Given the description of an element on the screen output the (x, y) to click on. 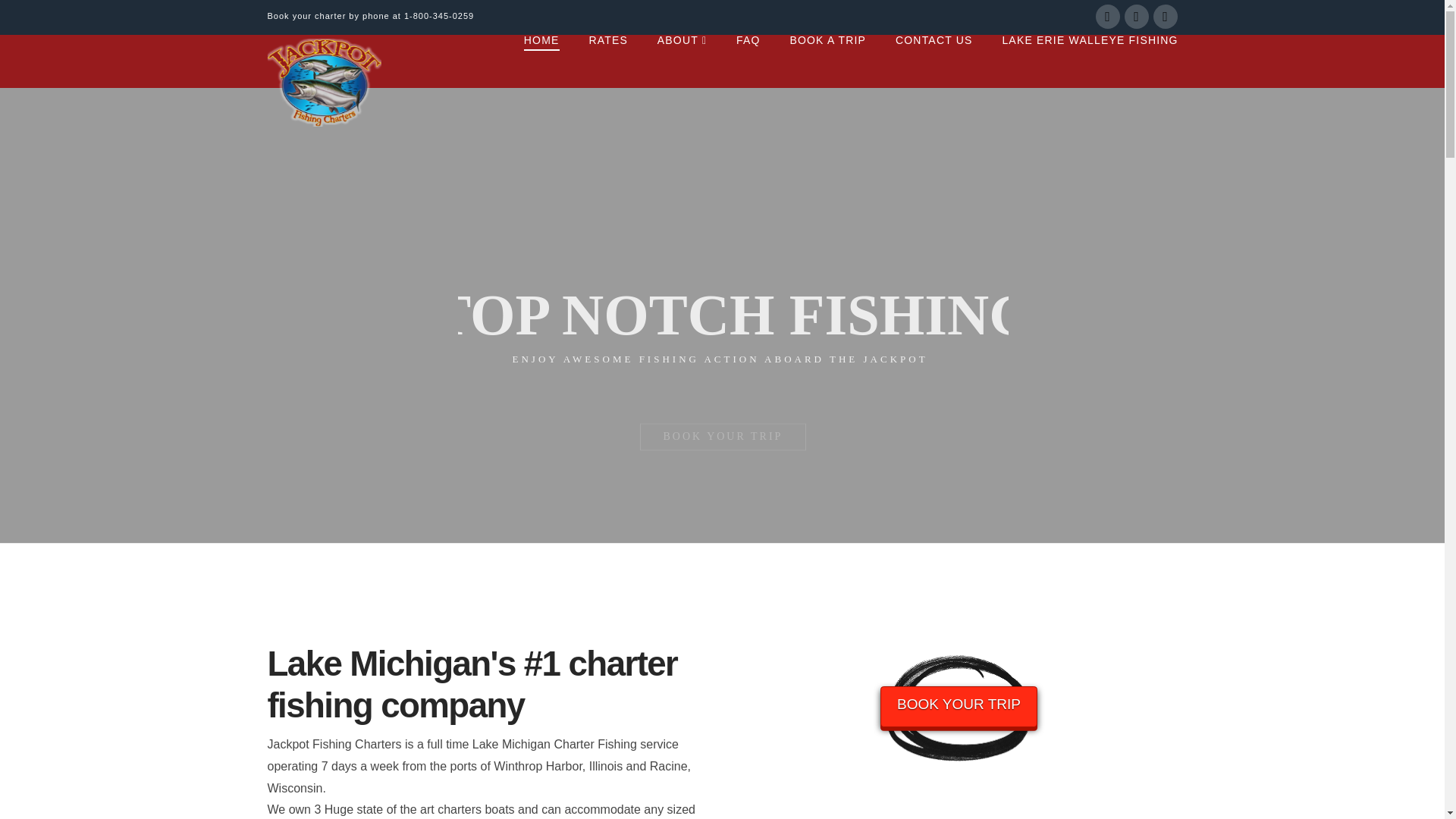
1-800-345-0259 (439, 15)
Instagram (1164, 16)
BOOK YOUR TRIP (958, 706)
LAKE ERIE WALLEYE FISHING (1081, 61)
HOME (540, 61)
RATES (607, 61)
BOOK A TRIP (827, 61)
Twitter (1136, 16)
FAQ (747, 61)
Facebook (1106, 16)
CONTACT US (933, 61)
ABOUT (681, 61)
